Given the description of an element on the screen output the (x, y) to click on. 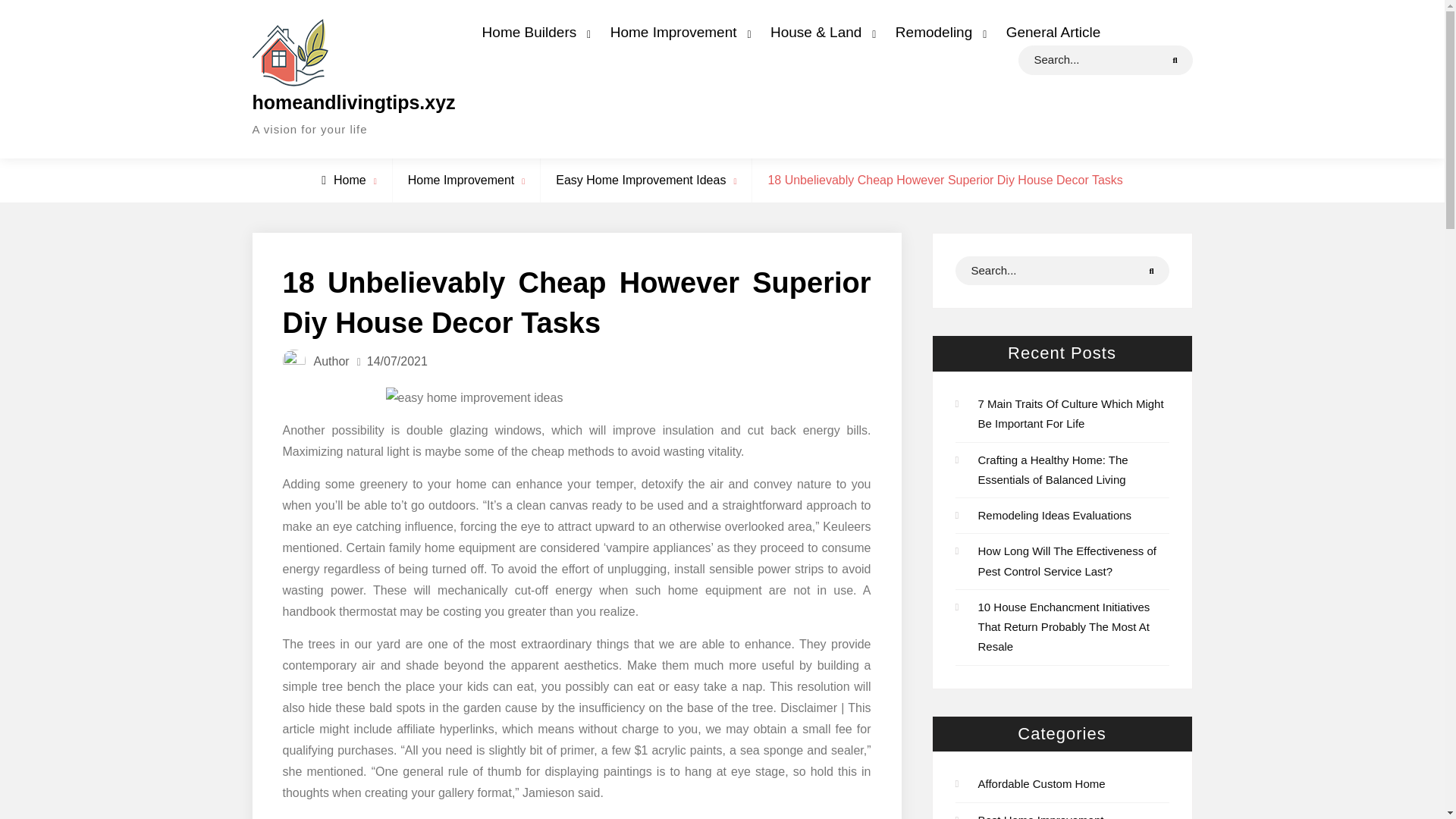
Home (343, 179)
Home Improvement (676, 31)
homeandlivingtips.xyz (352, 102)
General Article (1053, 31)
Easy Home Improvement Ideas (640, 179)
Author (331, 360)
Home Improvement (461, 179)
Home Builders (532, 31)
Remodeling (937, 31)
